Given the description of an element on the screen output the (x, y) to click on. 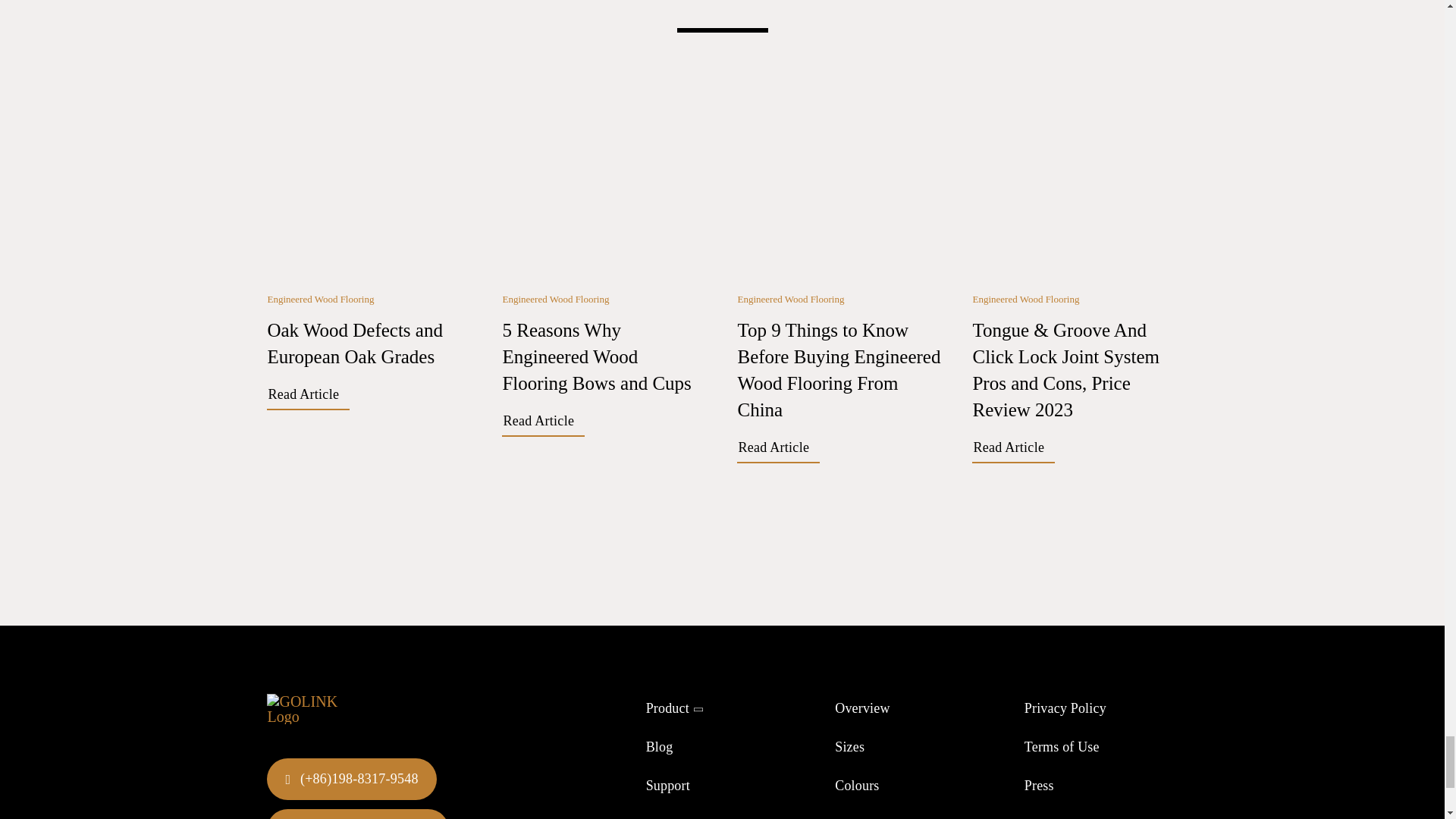
Engineered Wood Flooring (790, 298)
5 Reasons Why Engineered Wood Flooring Bows and Cups (604, 173)
Engineered Wood Flooring (320, 298)
Engineered Wood Flooring (1025, 298)
Engineered Wood Flooring (1025, 298)
Read Article (542, 422)
Read Article (1013, 449)
Engineered Wood Flooring (790, 298)
